Given the description of an element on the screen output the (x, y) to click on. 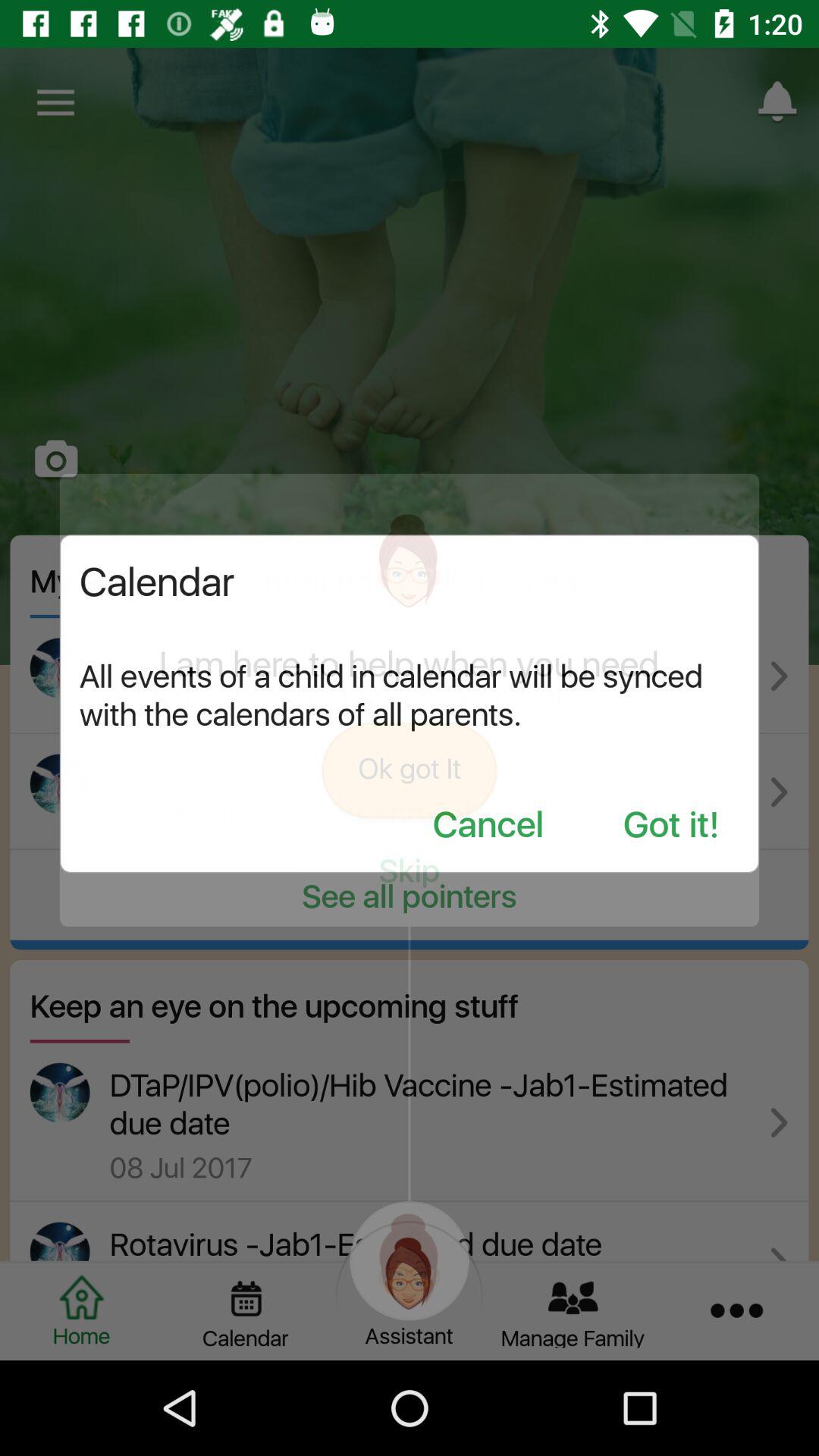
turn off the item below all events of icon (487, 826)
